Given the description of an element on the screen output the (x, y) to click on. 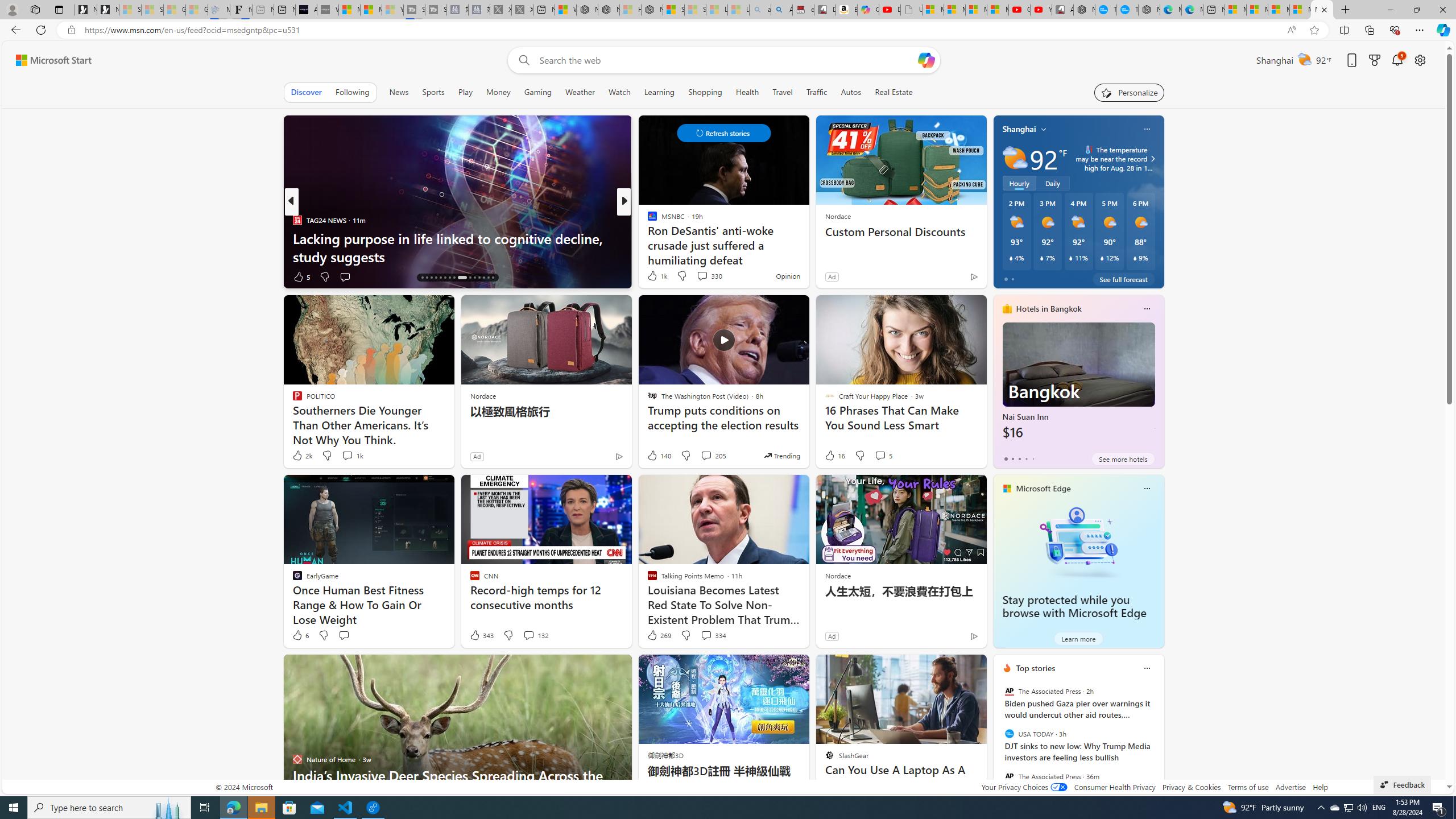
Shopping (705, 92)
View comments 1k Comment (352, 455)
16 Like (834, 455)
Enter your search term (726, 59)
tab-2 (1019, 458)
View comments 5 Comment (882, 455)
